Given the description of an element on the screen output the (x, y) to click on. 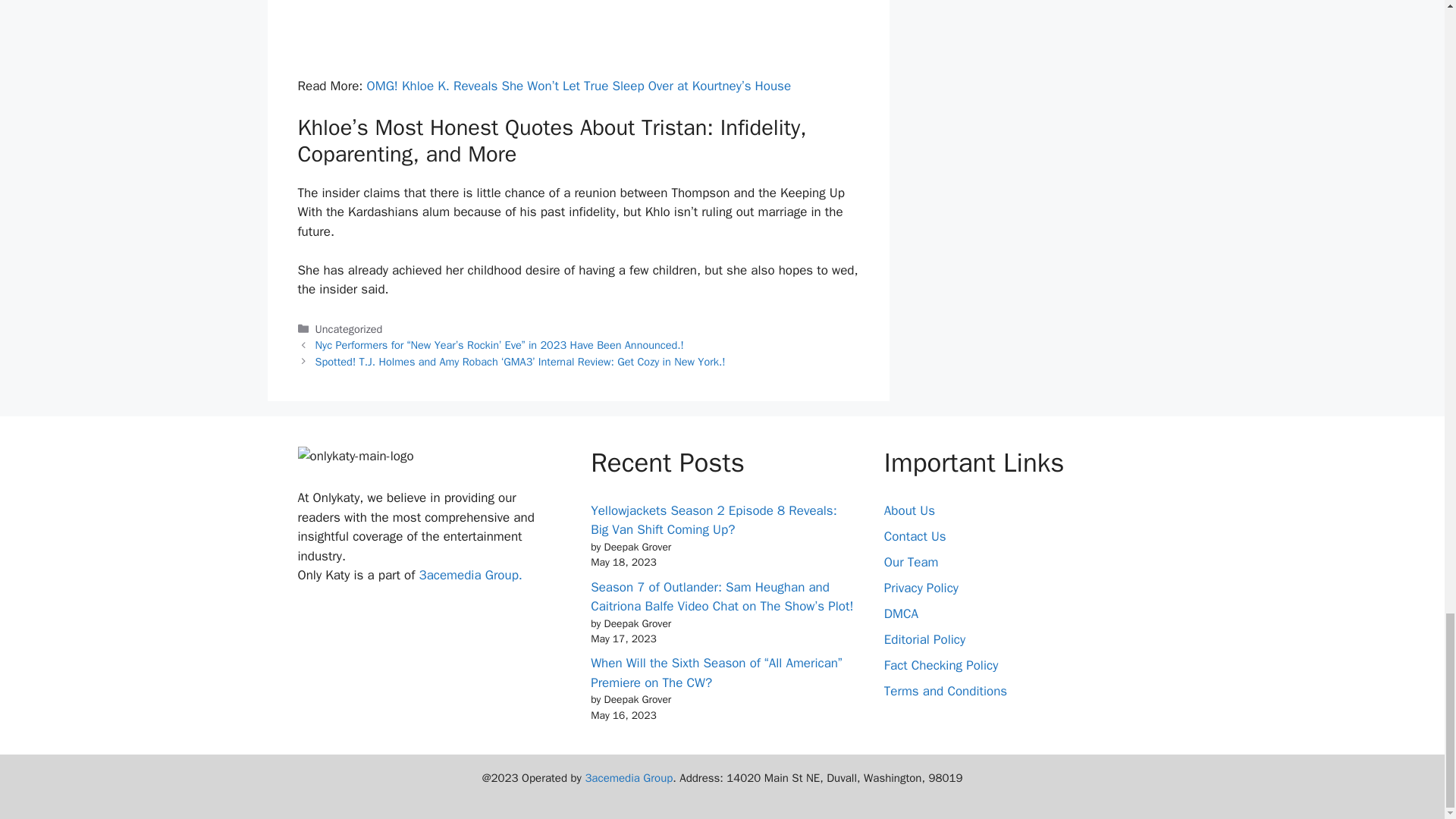
3acemedia Group. (470, 575)
Contact Us (914, 536)
About Us (908, 510)
Our Team (911, 562)
